Given the description of an element on the screen output the (x, y) to click on. 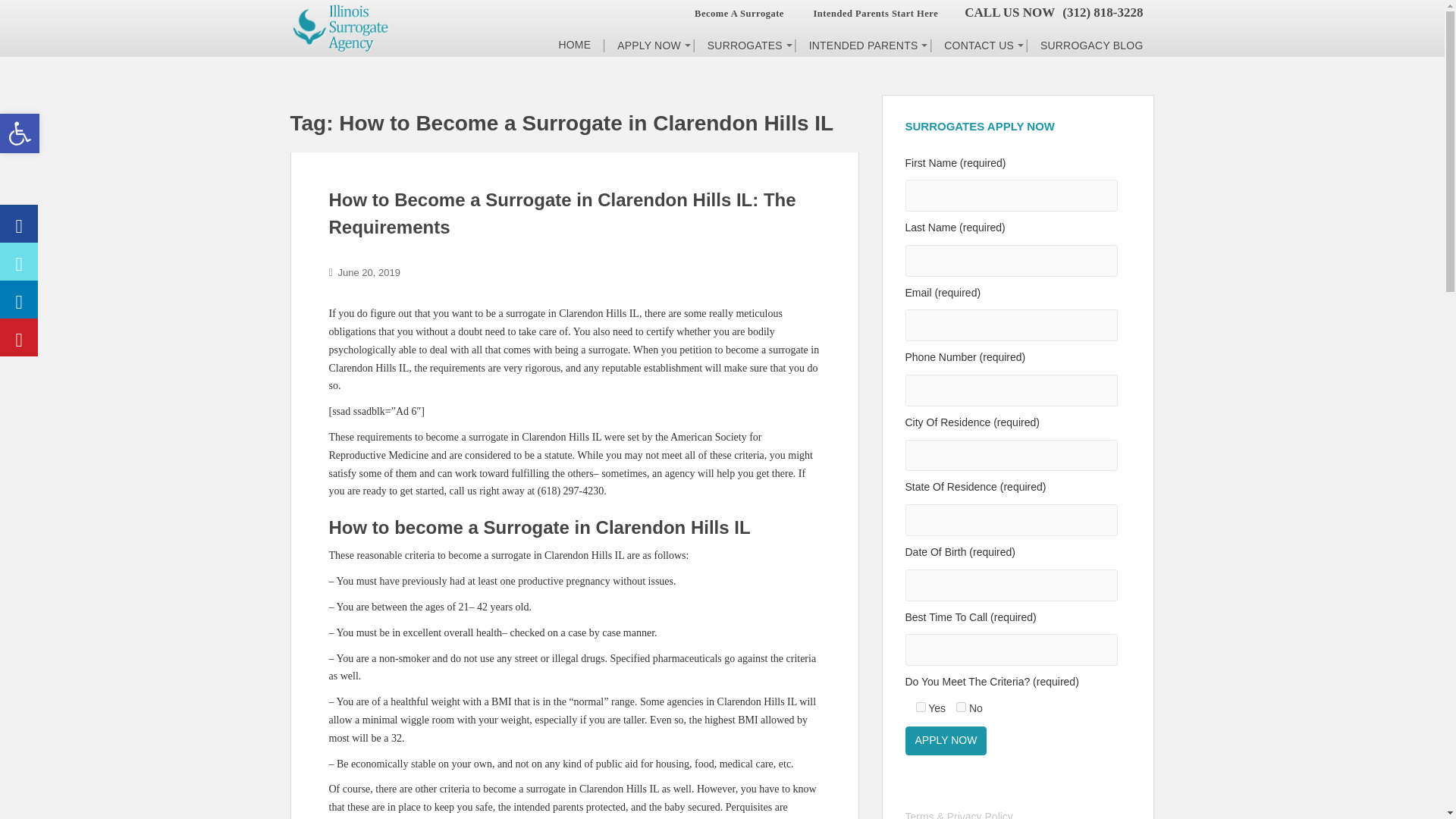
HOME (574, 51)
Become A Surrogate (737, 13)
SURROGATES (743, 51)
APPLY NOW (647, 51)
Accessibility Tools (19, 133)
No (19, 133)
Apply Now (961, 706)
Yes (946, 740)
Accessibility Tools (920, 706)
Surrogates Apply Now! (19, 133)
Intended Parents Start Here (647, 51)
